Given the description of an element on the screen output the (x, y) to click on. 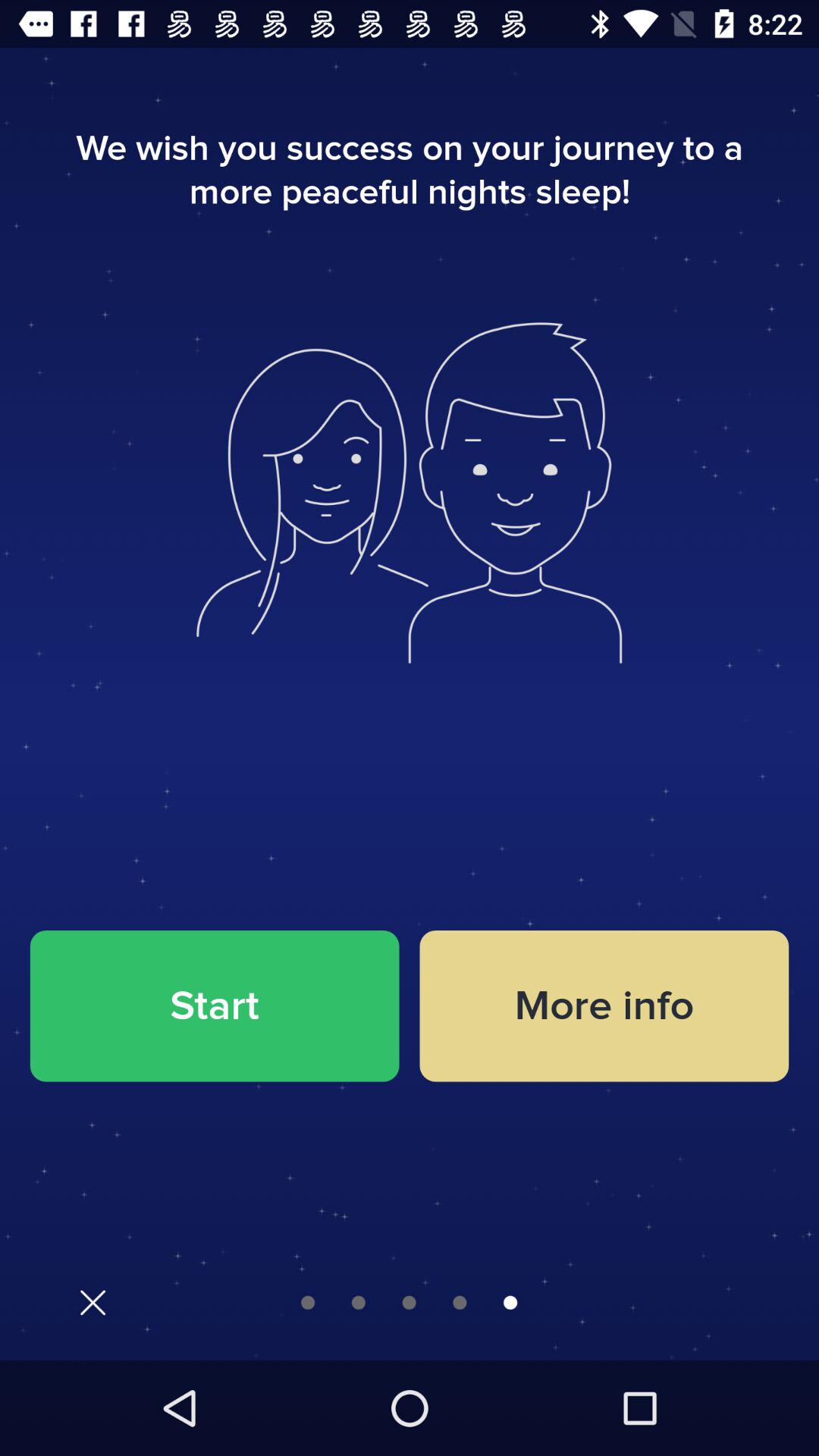
toggle exit button (92, 1302)
